Given the description of an element on the screen output the (x, y) to click on. 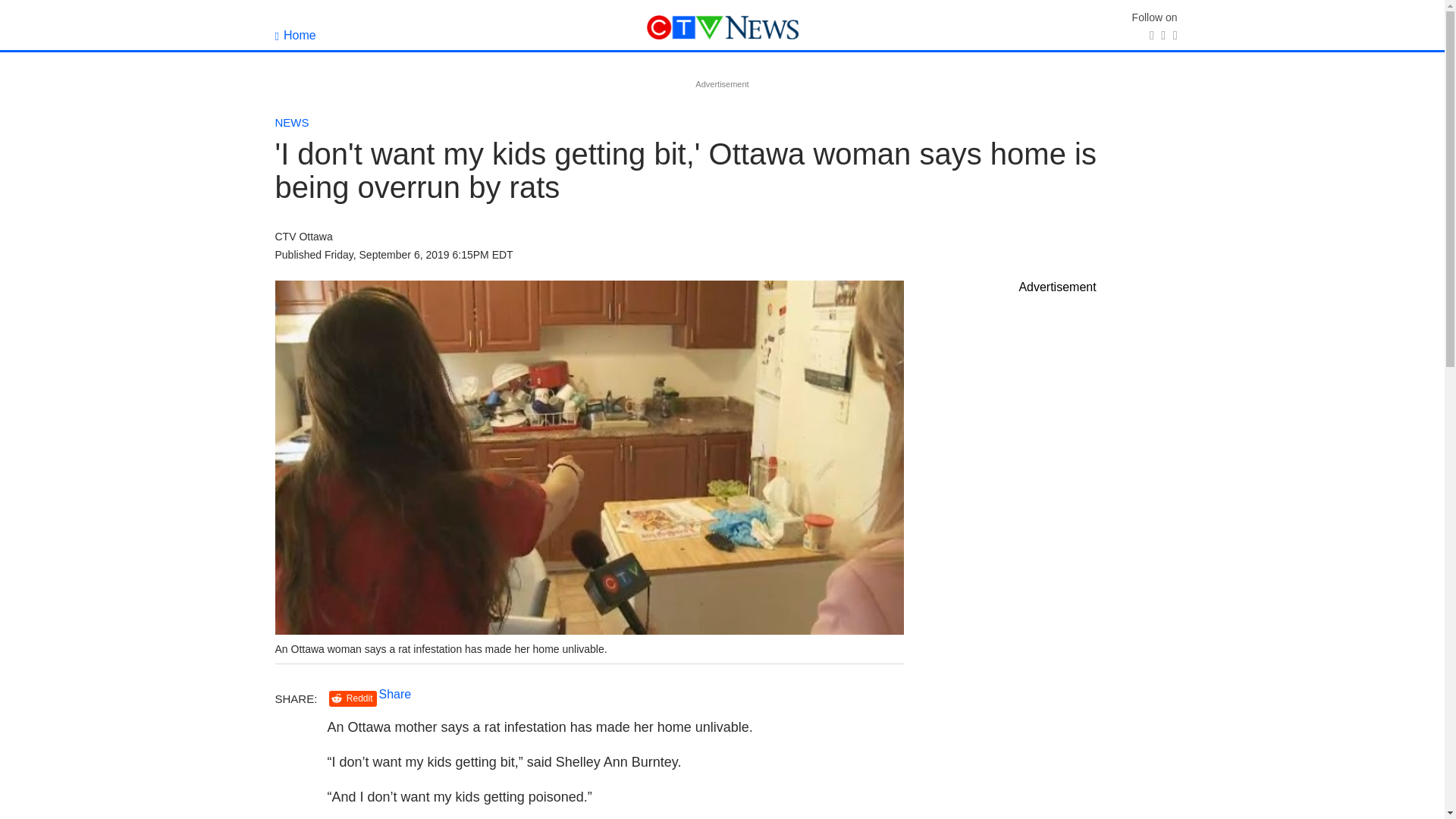
Home (295, 34)
Share (395, 694)
Reddit (353, 698)
NEWS (291, 122)
